Given the description of an element on the screen output the (x, y) to click on. 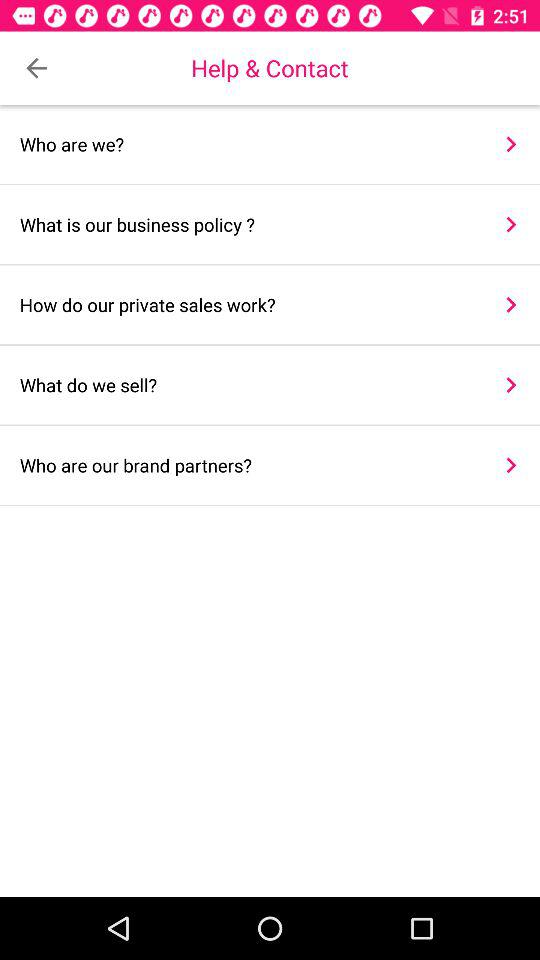
click the icon to the right of who are we? (510, 144)
